Given the description of an element on the screen output the (x, y) to click on. 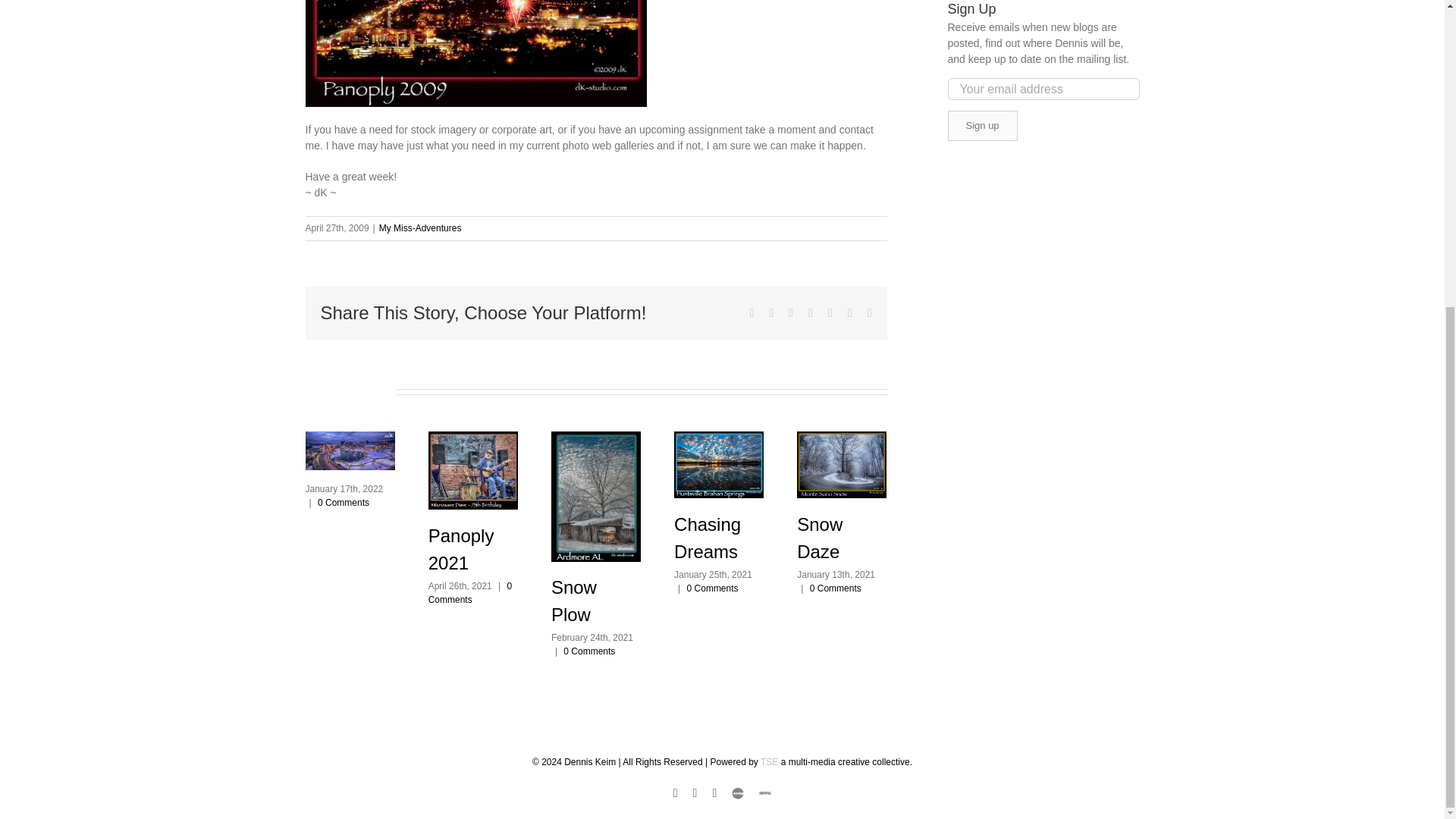
Snow Plow (573, 600)
Chasing Dreams (707, 537)
Snow Daze (819, 537)
Panoply Fireworks (475, 53)
Sign up (982, 125)
Panoply 2021 (461, 549)
